Given the description of an element on the screen output the (x, y) to click on. 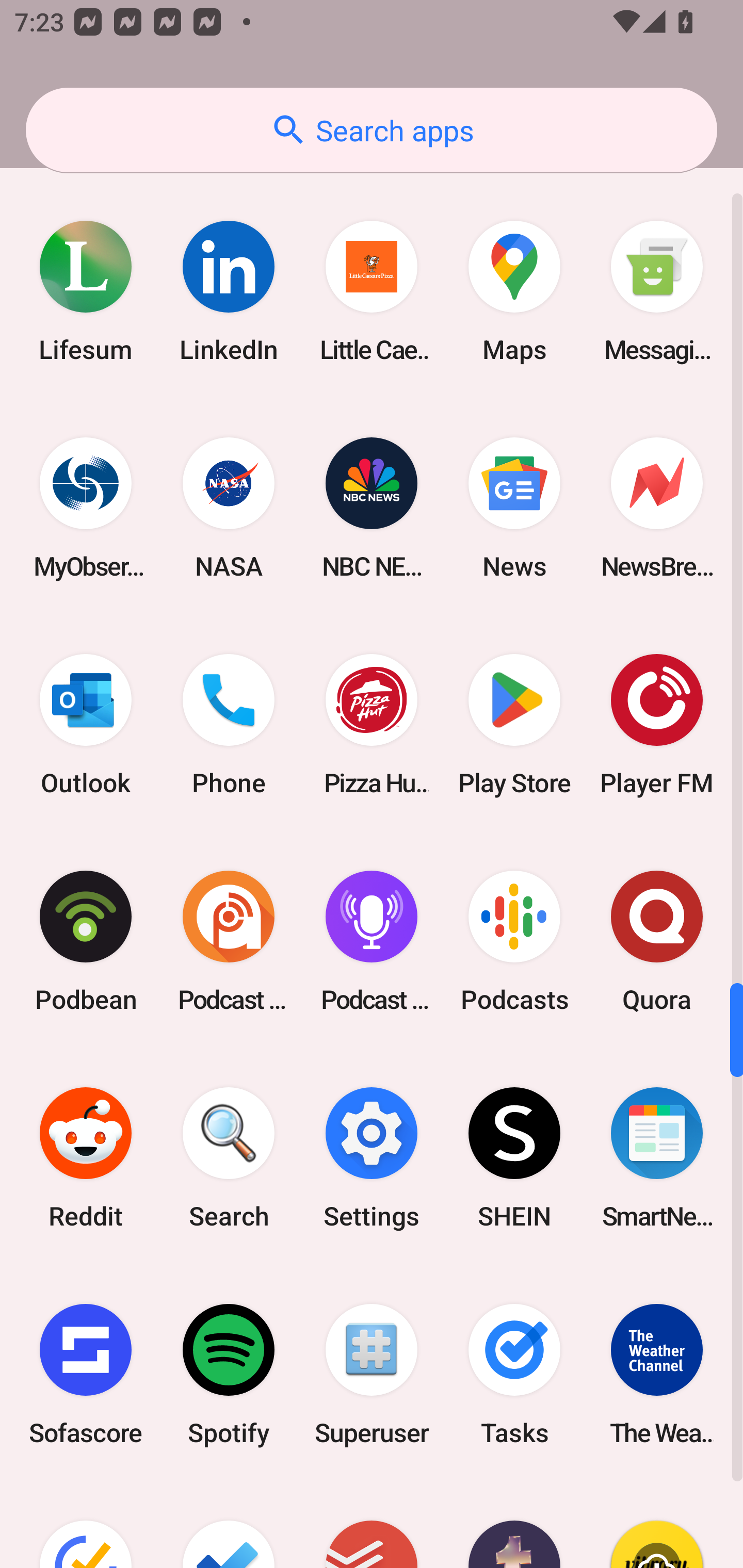
  Search apps (371, 130)
Lifesum (85, 291)
LinkedIn (228, 291)
Little Caesars Pizza (371, 291)
Maps (514, 291)
Messaging (656, 291)
MyObservatory (85, 507)
NASA (228, 507)
NBC NEWS (371, 507)
News (514, 507)
NewsBreak (656, 507)
Outlook (85, 724)
Phone (228, 724)
Pizza Hut HK & Macau (371, 724)
Play Store (514, 724)
Player FM (656, 724)
Podbean (85, 940)
Podcast Addict (228, 940)
Podcast Player (371, 940)
Podcasts (514, 940)
Quora (656, 940)
Reddit (85, 1157)
Search (228, 1157)
Settings (371, 1157)
SHEIN (514, 1157)
SmartNews (656, 1157)
Sofascore (85, 1374)
Spotify (228, 1374)
Superuser (371, 1374)
Tasks (514, 1374)
The Weather Channel (656, 1374)
